Given the description of an element on the screen output the (x, y) to click on. 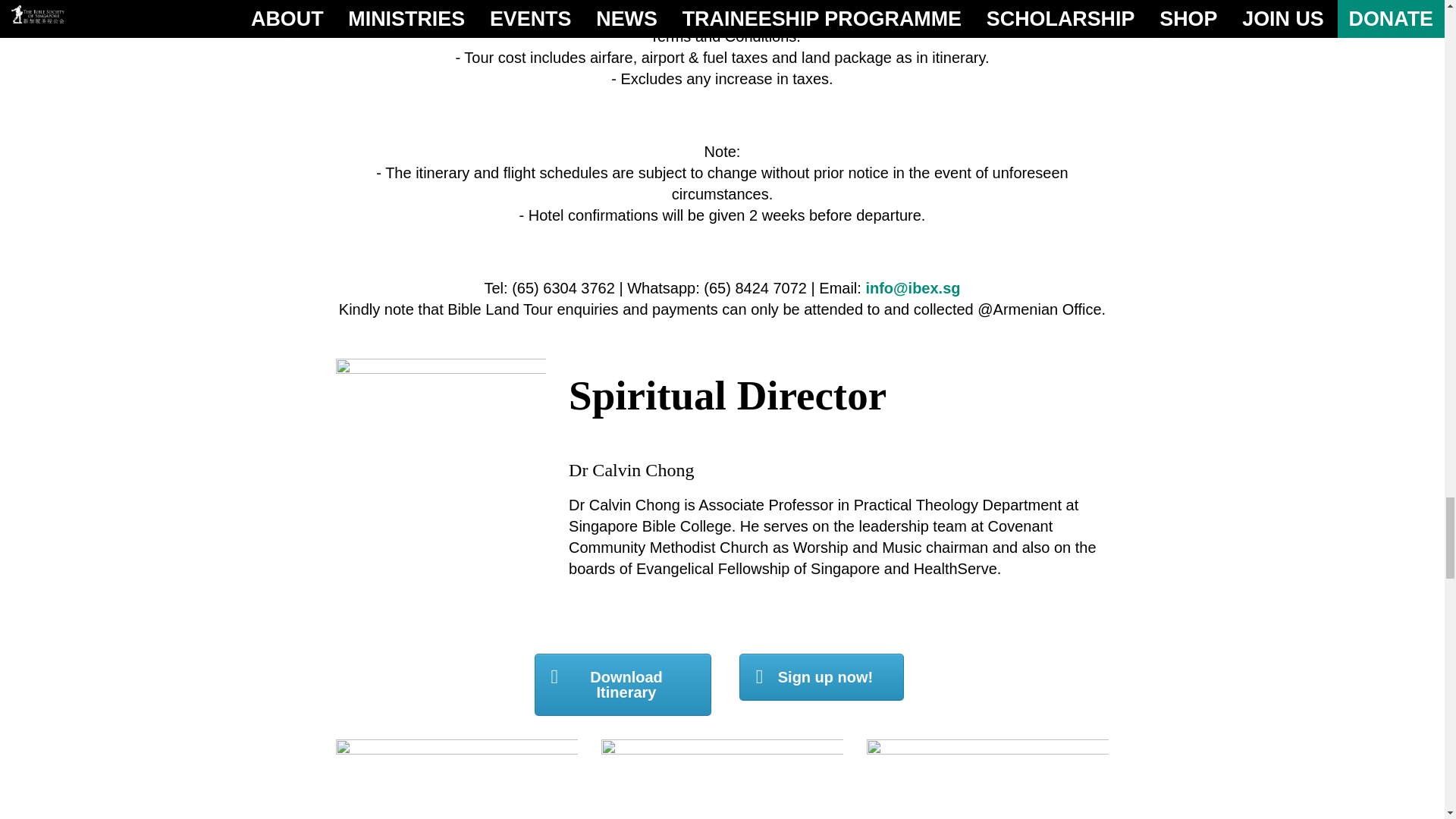
Sign up now! (821, 677)
Sea of Galilee (721, 778)
Download Itinerary (622, 684)
Nazareth Village (456, 778)
Garden Tomb (987, 778)
